Given the description of an element on the screen output the (x, y) to click on. 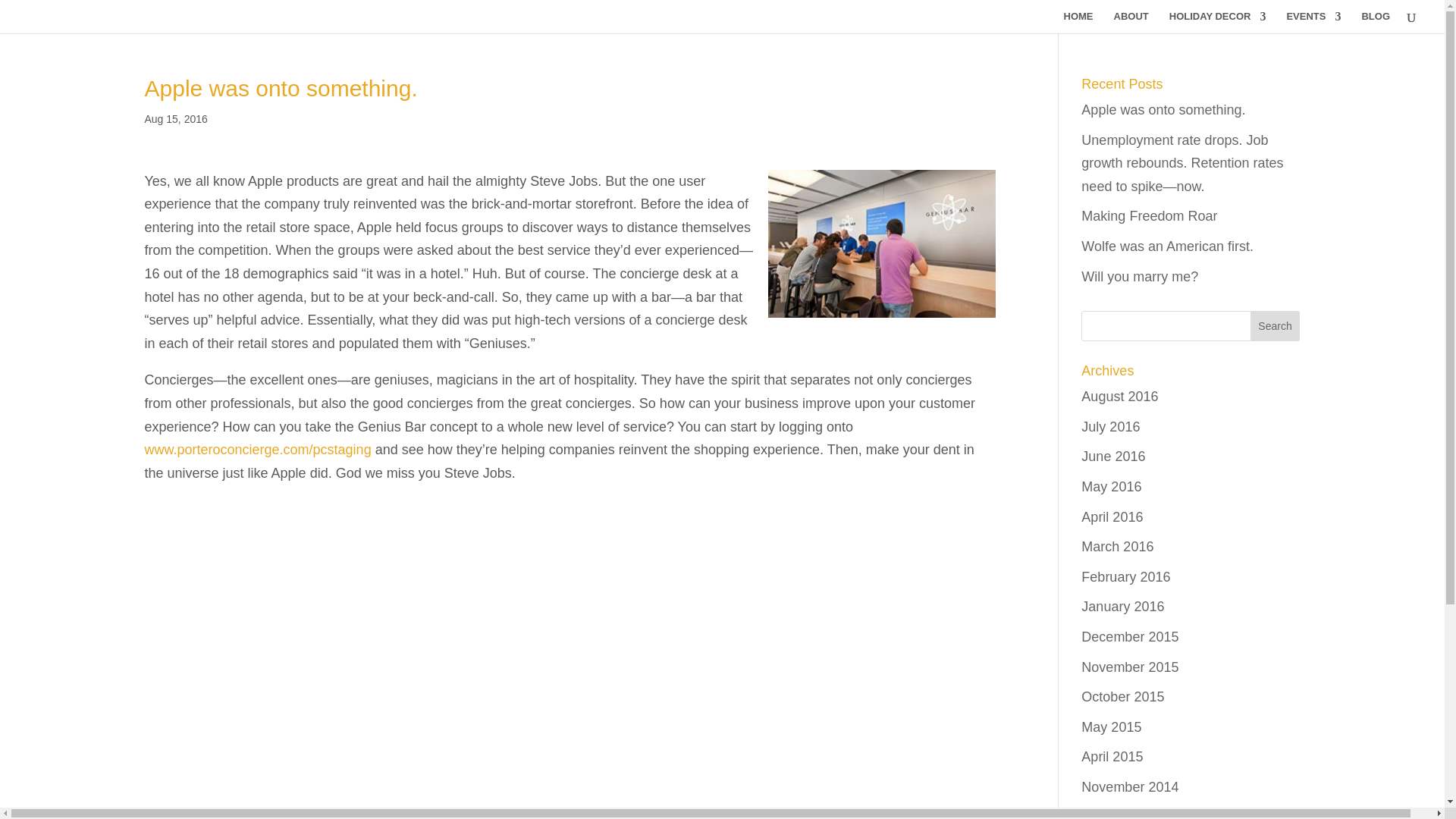
July 2016 (1110, 426)
January 2016 (1122, 606)
May 2016 (1111, 486)
April 2016 (1111, 516)
Apple was onto something. (1162, 109)
May 2015 (1111, 726)
October 2015 (1122, 696)
EVENTS (1312, 22)
ABOUT (1130, 22)
HOME (1077, 22)
Wolfe was an American first. (1167, 246)
Will you marry me? (1139, 276)
Search (1275, 326)
Making Freedom Roar (1149, 215)
February 2016 (1125, 576)
